Given the description of an element on the screen output the (x, y) to click on. 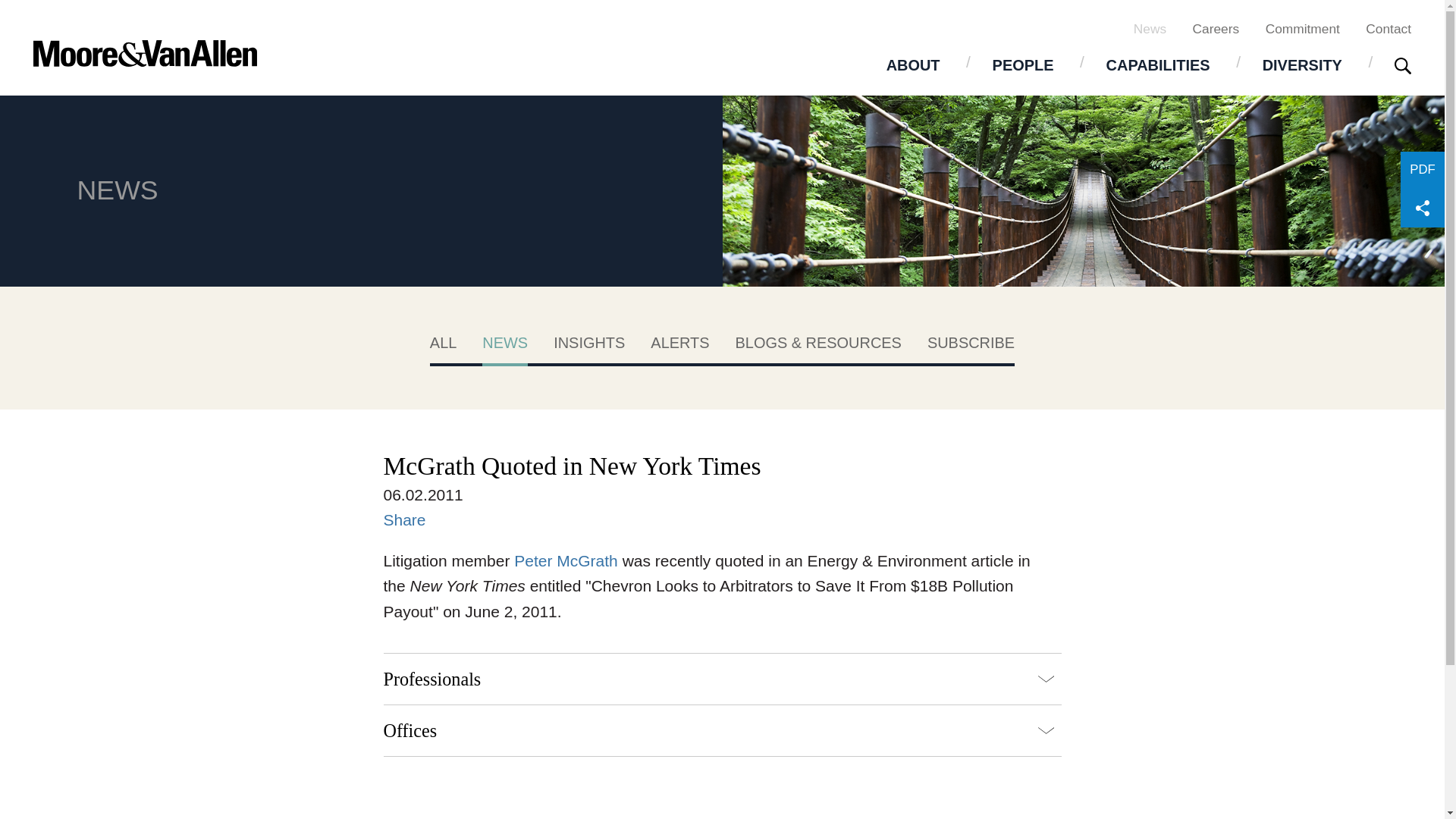
Main Menu (671, 20)
CAPABILITIES (1158, 64)
DIVERSITY (1302, 64)
PEOPLE (1023, 64)
Share (1422, 208)
Share (405, 519)
Careers (1215, 28)
Commitment (1302, 28)
Menu (671, 20)
ABOUT (913, 64)
